Given the description of an element on the screen output the (x, y) to click on. 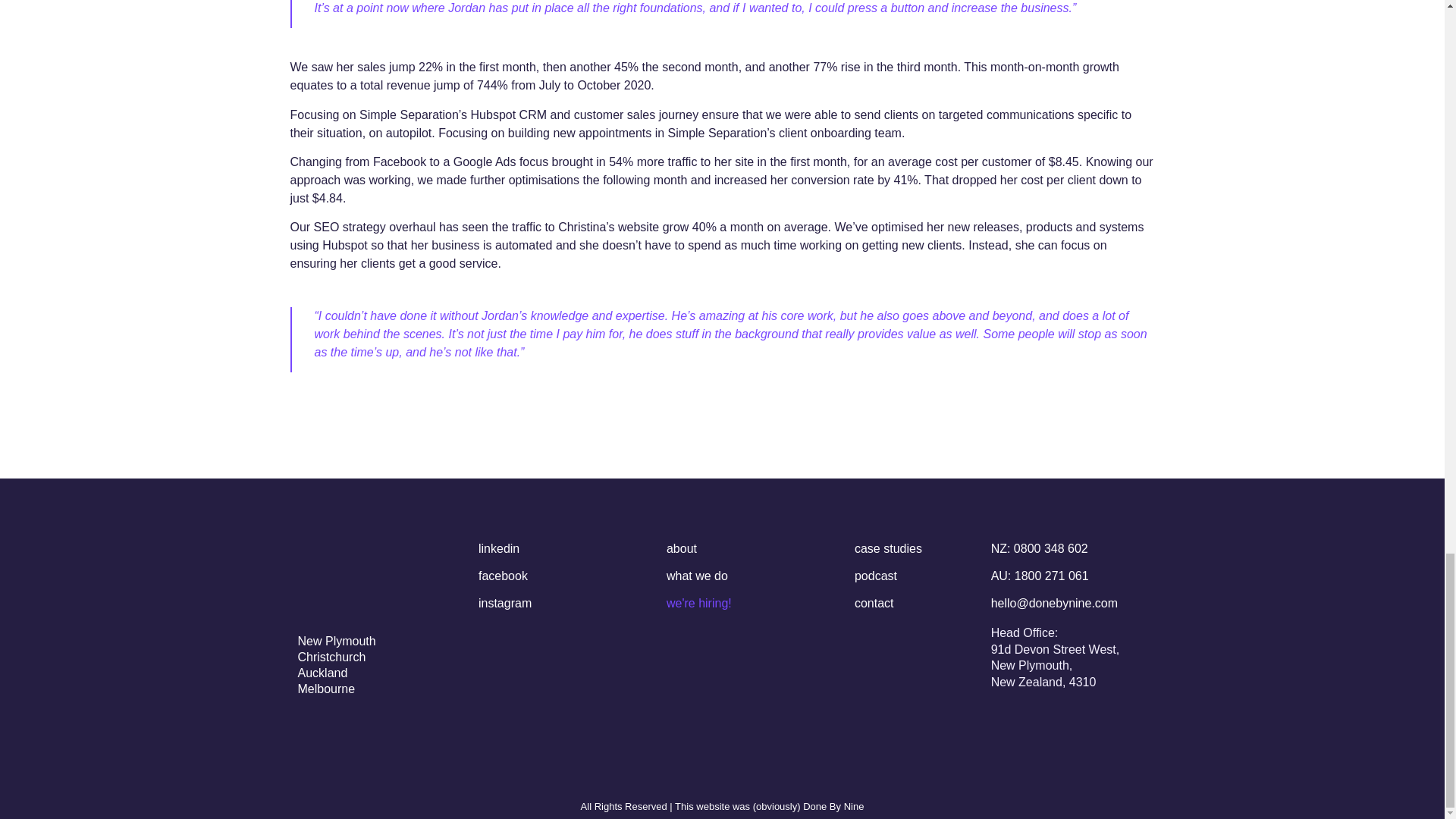
what we do (697, 575)
podcast (875, 575)
Christchurch (331, 656)
facebook (503, 575)
New Plymouth (336, 640)
instagram (505, 603)
Melbourne (326, 688)
we're hiring! (699, 603)
NZ: 0800 348 602 (1039, 548)
AU: 1800 271 061 (1040, 575)
